Given the description of an element on the screen output the (x, y) to click on. 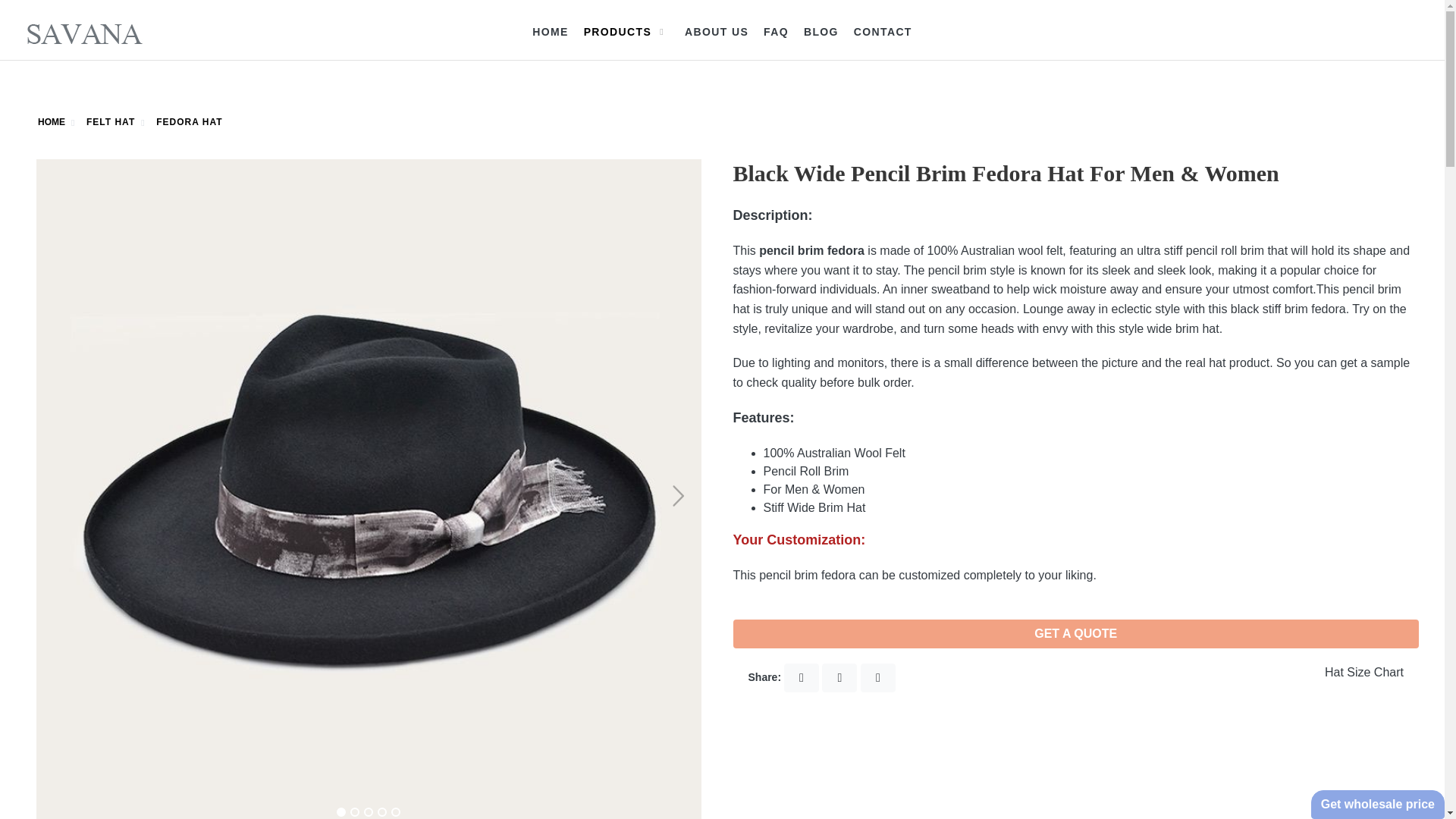
HOME (549, 31)
HOME (51, 121)
CONTACT (882, 31)
FAQ (775, 31)
FEDORA HAT (188, 121)
BLOG (820, 31)
ABOUT US (716, 31)
PRODUCTS (626, 31)
FELT HAT (110, 121)
